Given the description of an element on the screen output the (x, y) to click on. 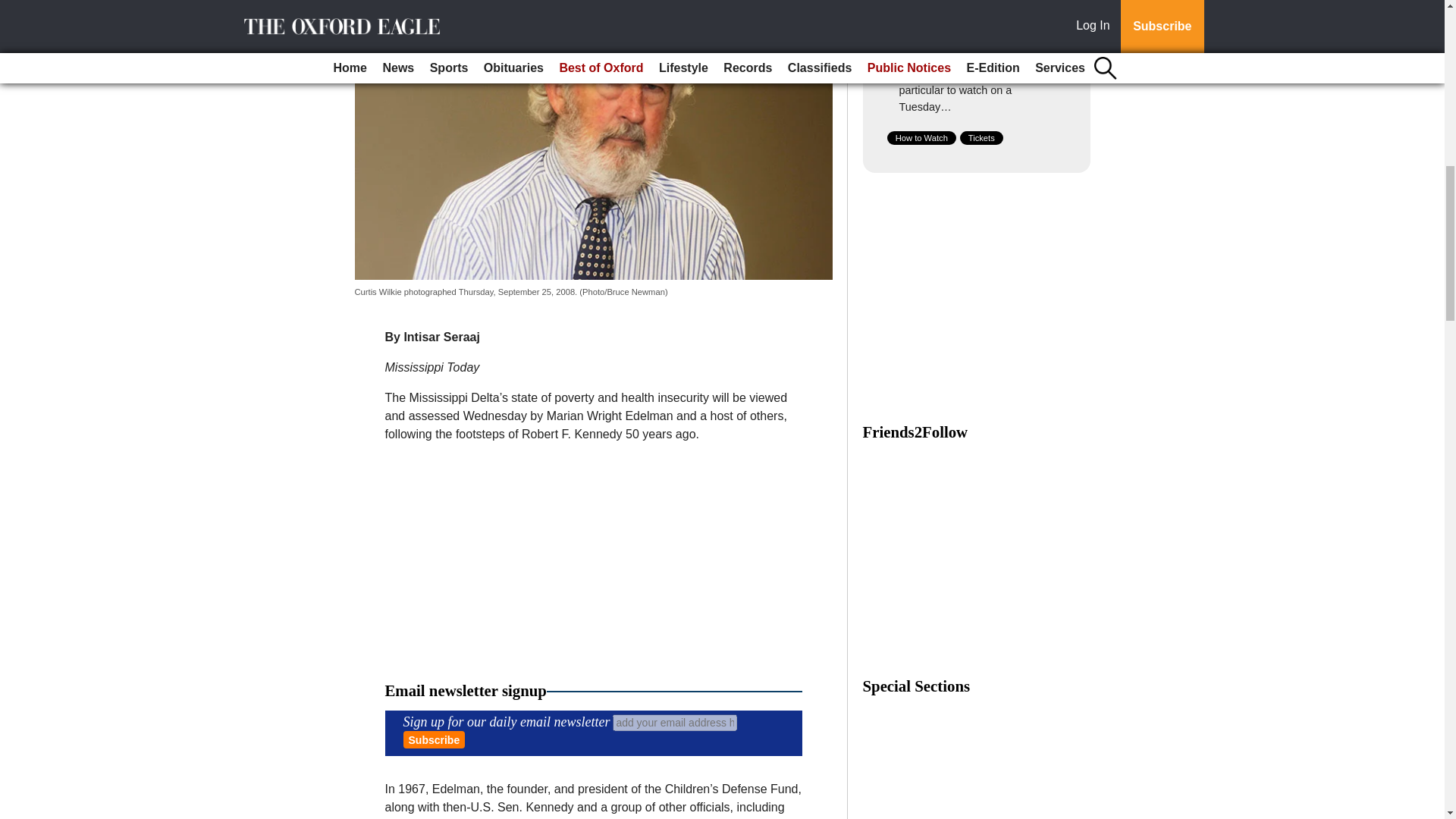
Subscribe (434, 739)
Subscribe (434, 739)
How to Watch (921, 137)
